Given the description of an element on the screen output the (x, y) to click on. 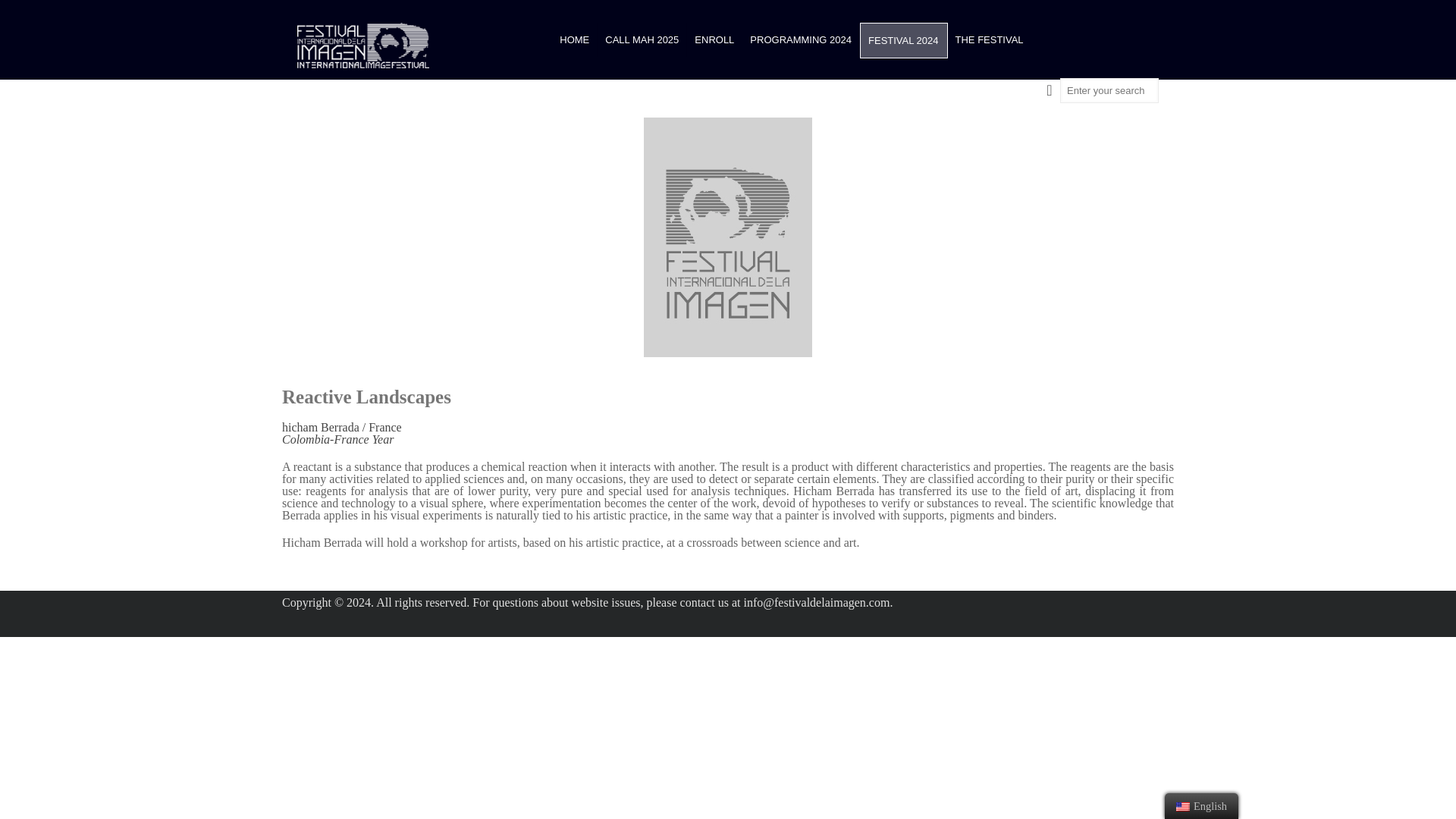
ENROLL (714, 39)
PROGRAMMING 2024 (801, 39)
THE FESTIVAL (988, 39)
HOME (573, 39)
International Image Festival (363, 44)
CALL MAH 2025 (641, 39)
FESTIVAL 2024 (903, 40)
